Given the description of an element on the screen output the (x, y) to click on. 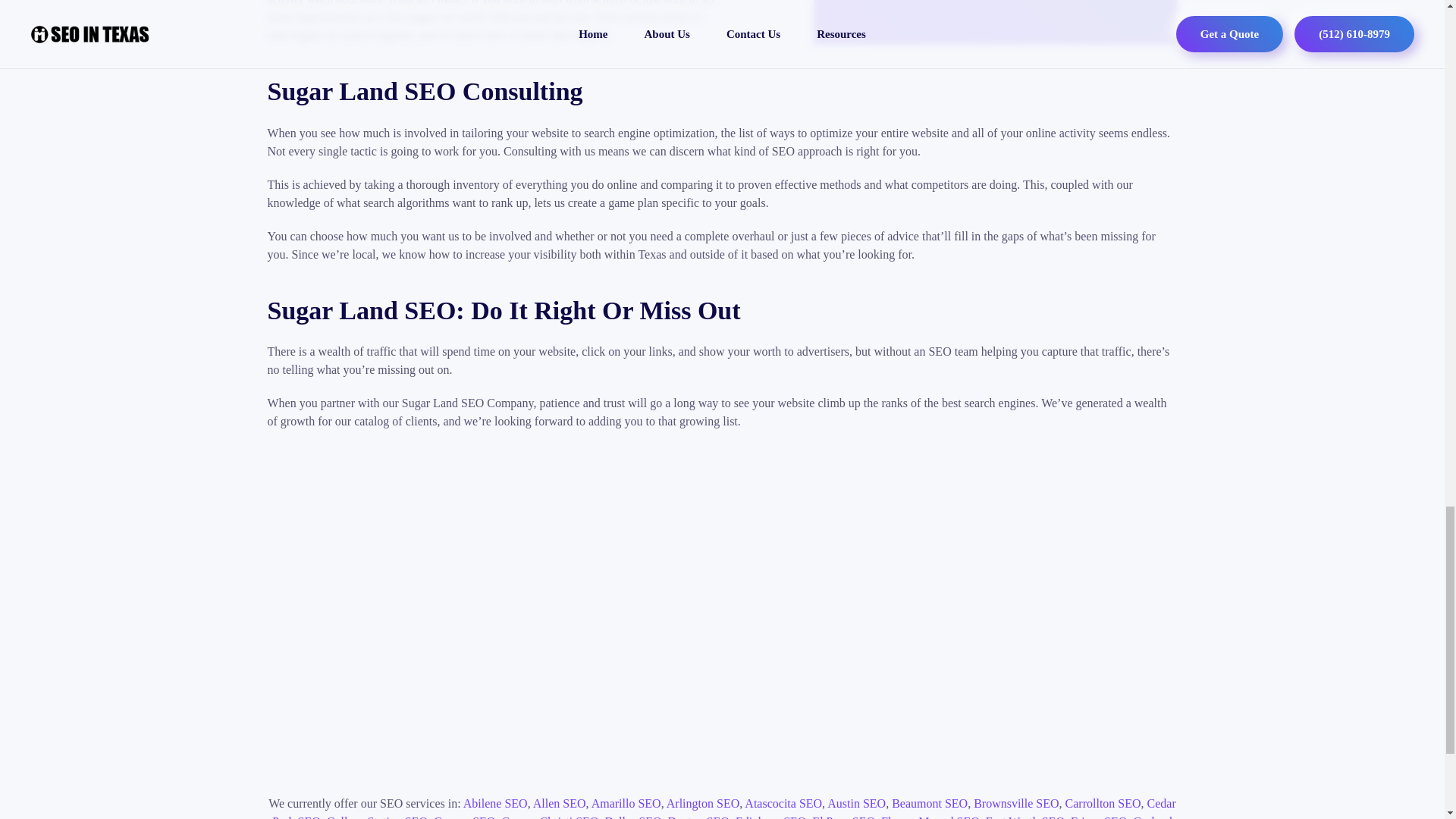
Arlington SEO (702, 802)
Austin SEO (856, 802)
Edinburg SEO (770, 816)
Amarillo SEO (626, 802)
College Station SEO (377, 816)
Cedar Park SEO (724, 807)
Allen SEO (559, 802)
Beaumont SEO (929, 802)
Carrollton SEO (1103, 802)
Abilene SEO (495, 802)
